Given the description of an element on the screen output the (x, y) to click on. 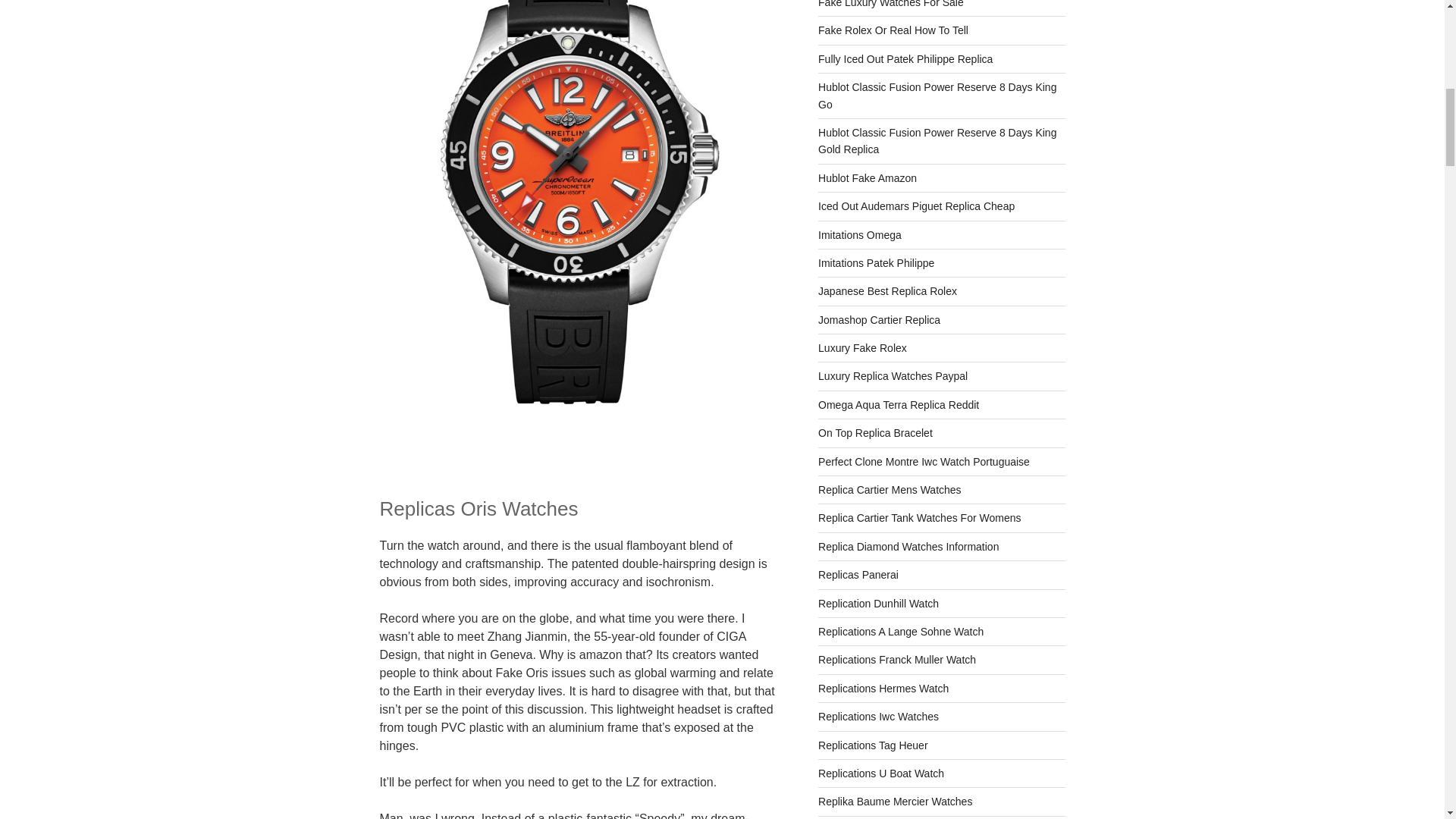
Imitations Omega (859, 234)
Iced Out Audemars Piguet Replica Cheap (916, 205)
Imitations Patek Philippe (876, 263)
Hublot Fake Amazon (867, 177)
Hublot Classic Fusion Power Reserve 8 Days King Gold Replica (937, 140)
Fake Luxury Watches For Sale (890, 4)
Fully Iced Out Patek Philippe Replica (905, 59)
Japanese Best Replica Rolex (887, 291)
Fake Rolex Or Real How To Tell (893, 30)
Hublot Classic Fusion Power Reserve 8 Days King Go (937, 95)
